Given the description of an element on the screen output the (x, y) to click on. 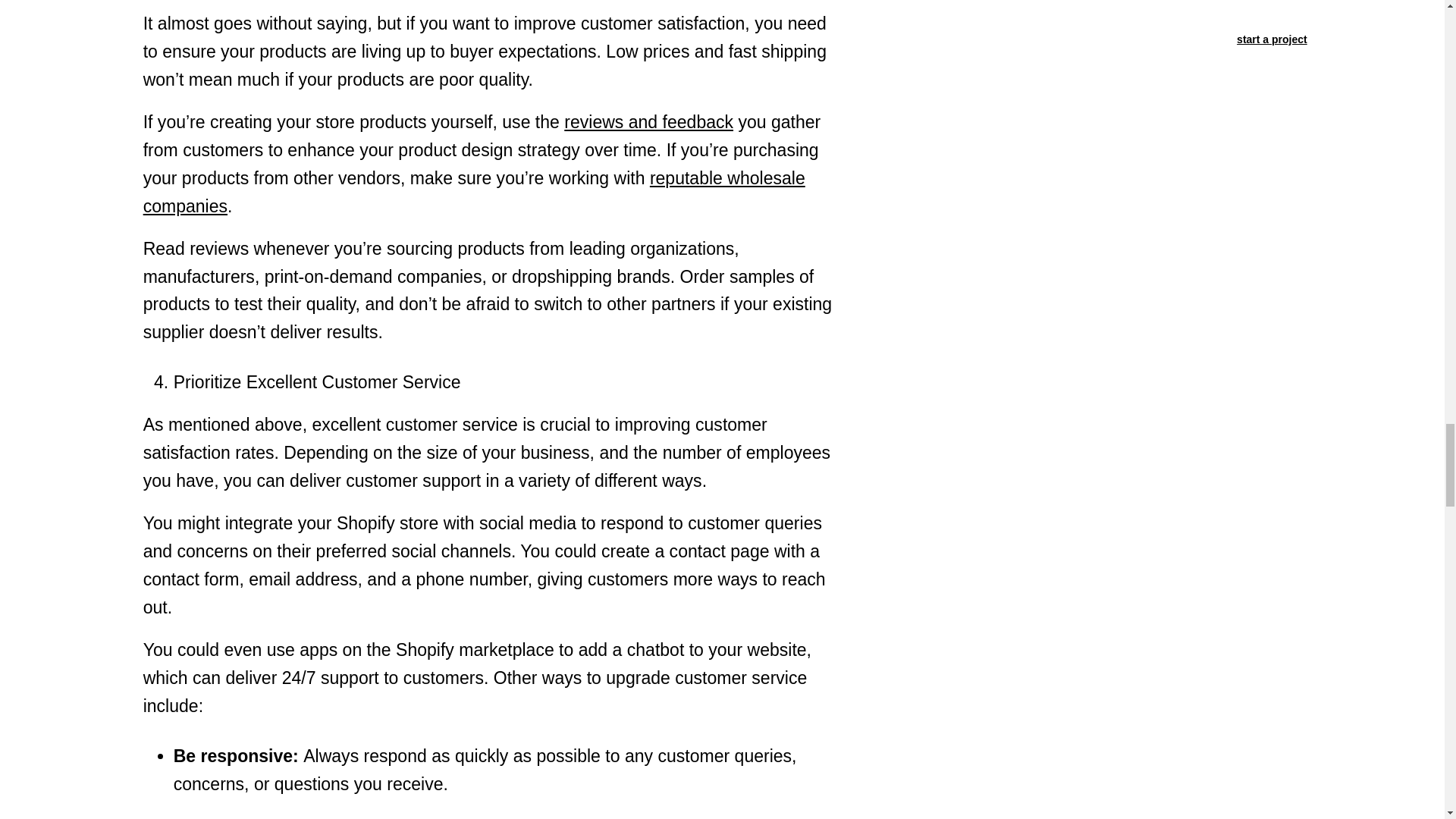
reputable wholesale companies (473, 192)
reviews and feedback (648, 121)
